Given the description of an element on the screen output the (x, y) to click on. 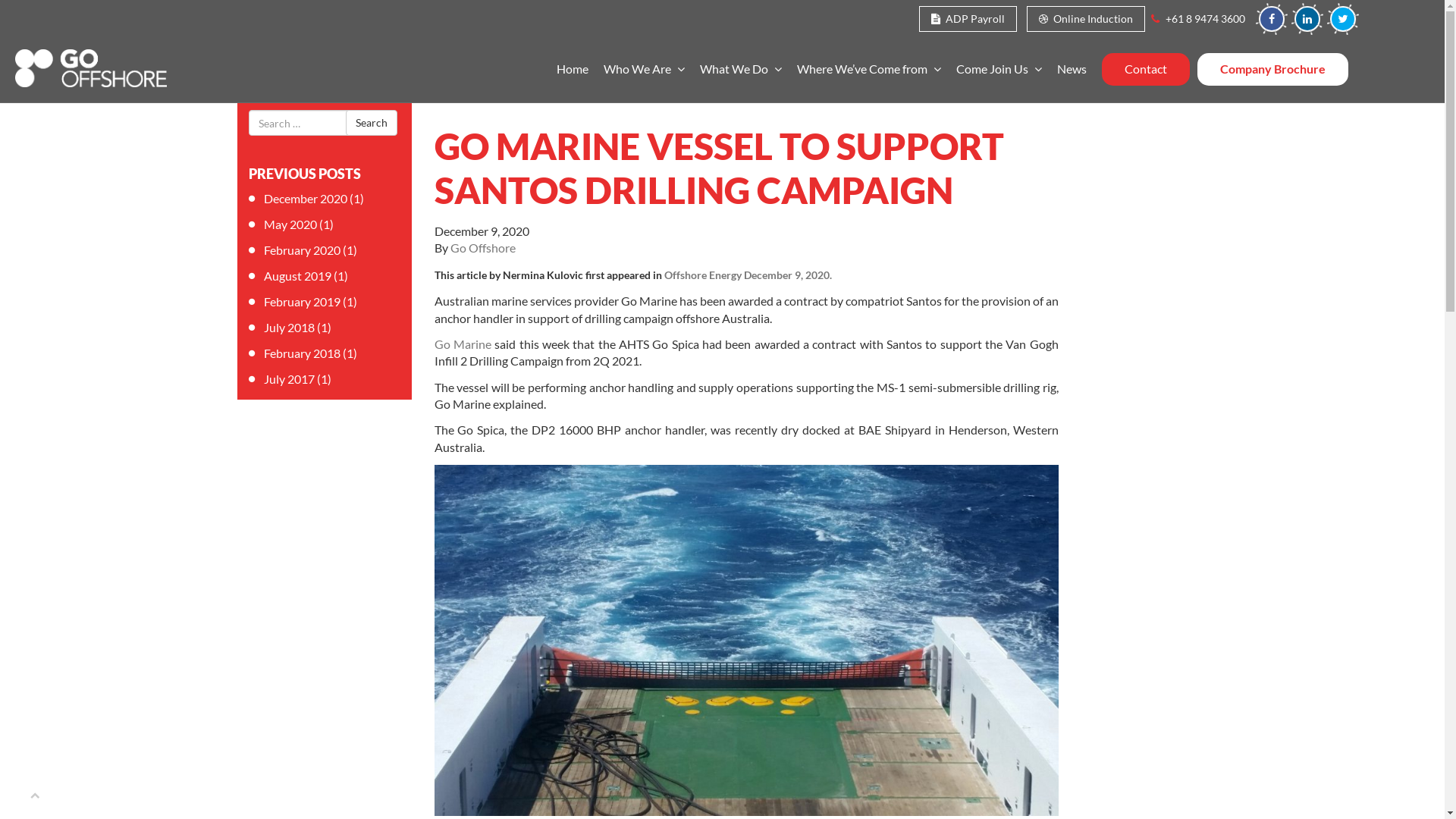
Contact Element type: text (1145, 68)
Search Element type: text (371, 122)
Who We Are Element type: text (644, 69)
ADP Payroll Element type: text (967, 18)
July 2018 Element type: text (288, 327)
Offshore Energy December 9, 2020. Element type: text (747, 275)
Go Offshore Element type: text (482, 247)
December 2020 Element type: text (305, 198)
February 2019 Element type: text (301, 301)
Home Element type: text (572, 69)
July 2017 Element type: text (288, 378)
Online Induction Element type: text (1085, 18)
May 2020 Element type: text (289, 223)
News Element type: text (1071, 69)
February 2018 Element type: text (301, 352)
February 2020 Element type: text (301, 249)
What We Do Element type: text (739, 69)
Go Marine Element type: text (461, 343)
Come Join Us Element type: text (997, 69)
Company Brochure Element type: text (1271, 68)
August 2019 Element type: text (297, 275)
